Given the description of an element on the screen output the (x, y) to click on. 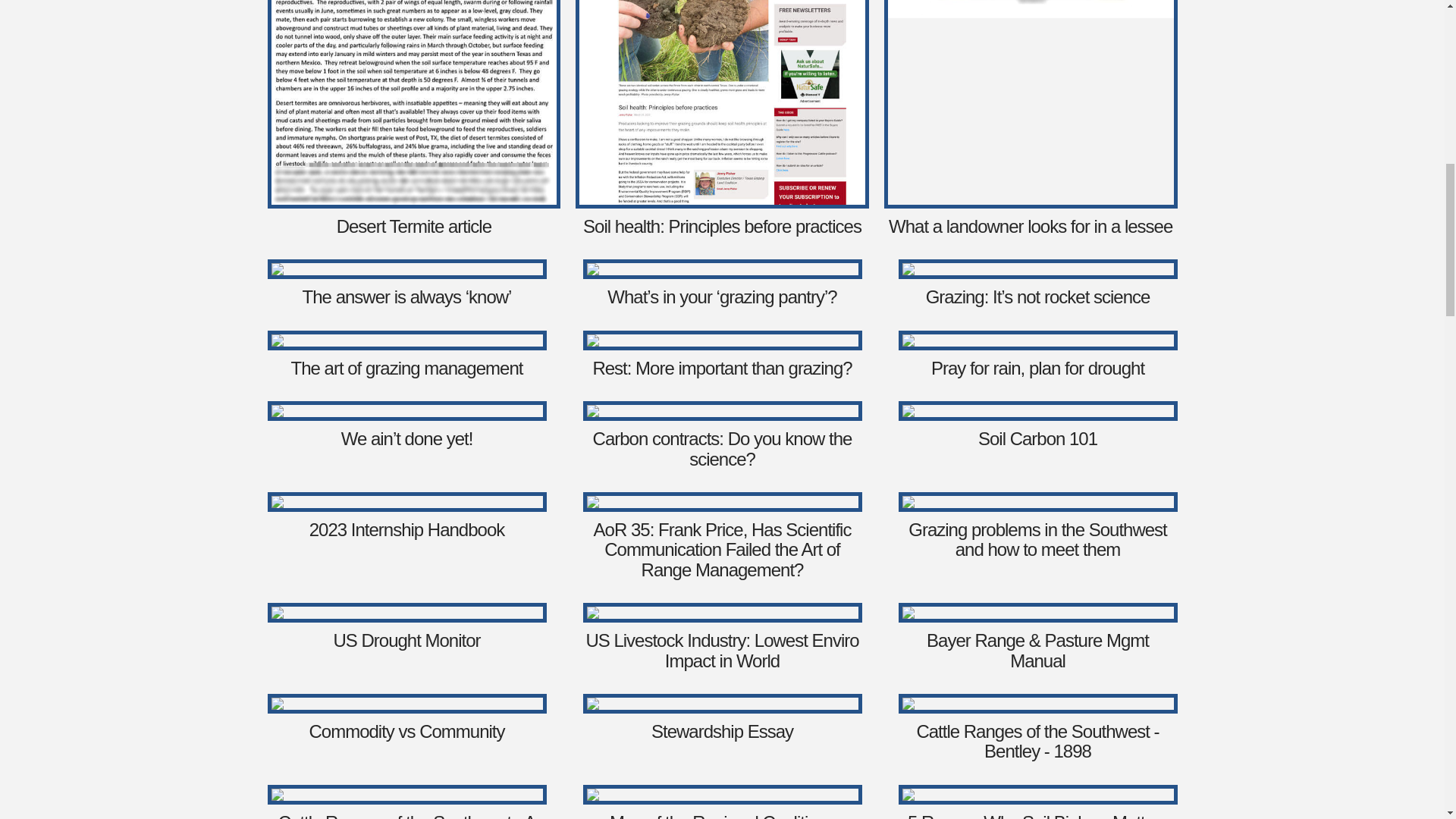
Pray for rain, plan for drought (1037, 367)
What a landowner looks for in a lessee (1030, 226)
Grazing problems in the Southwest and how to meet them (1037, 539)
The art of grazing management (406, 367)
Rest: More important than grazing? (721, 367)
Desert Termite article (414, 226)
Soil health: Principles before practices (722, 226)
Carbon contracts: Do you know the science? (721, 448)
Soil Carbon 101 (1037, 438)
2023 Internship Handbook (406, 529)
